Given the description of an element on the screen output the (x, y) to click on. 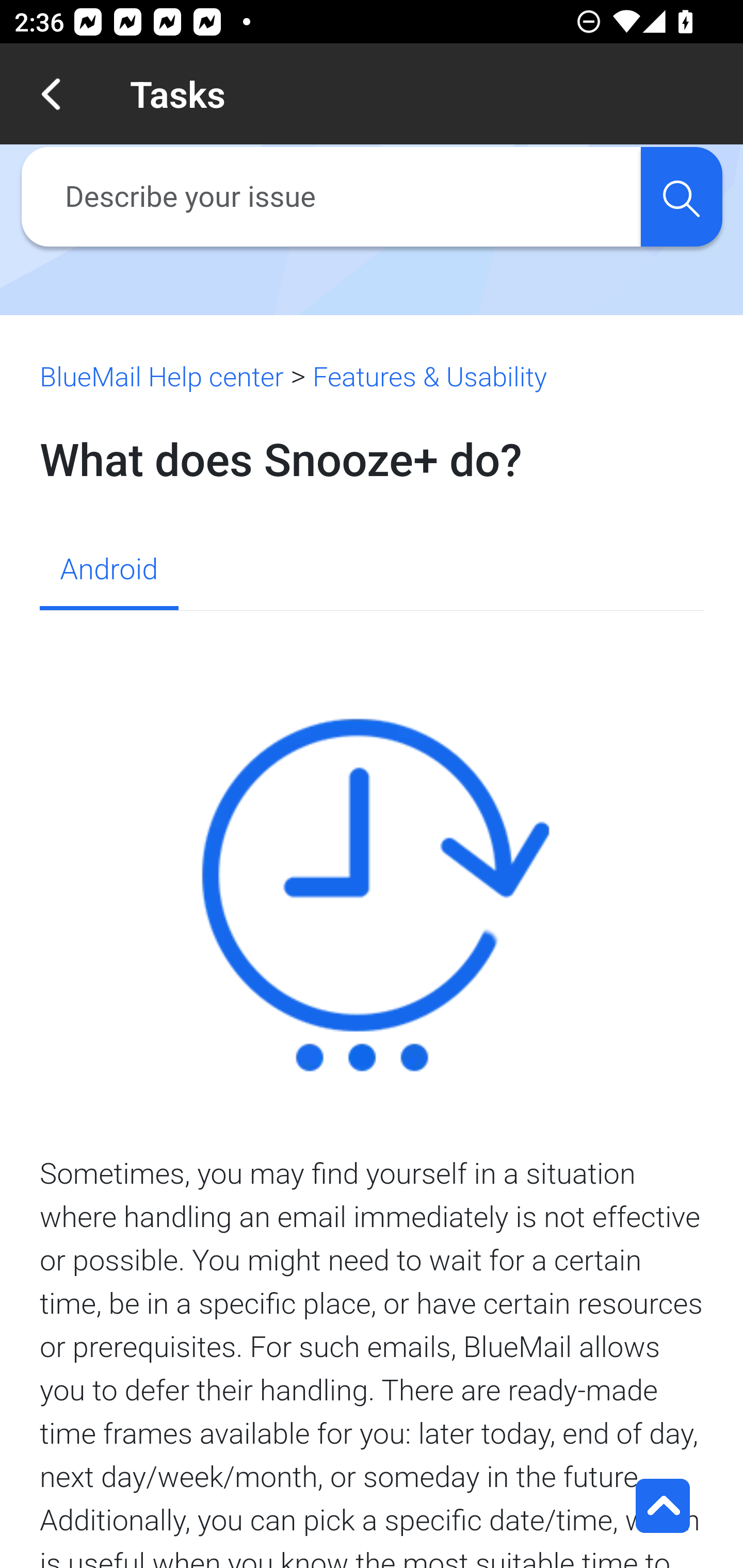
Navigate up (50, 93)
search (680, 196)
BlueMail Help center BlueMail  Help center (162, 376)
Features & Usability (429, 376)
Android (108, 571)
